Given the description of an element on the screen output the (x, y) to click on. 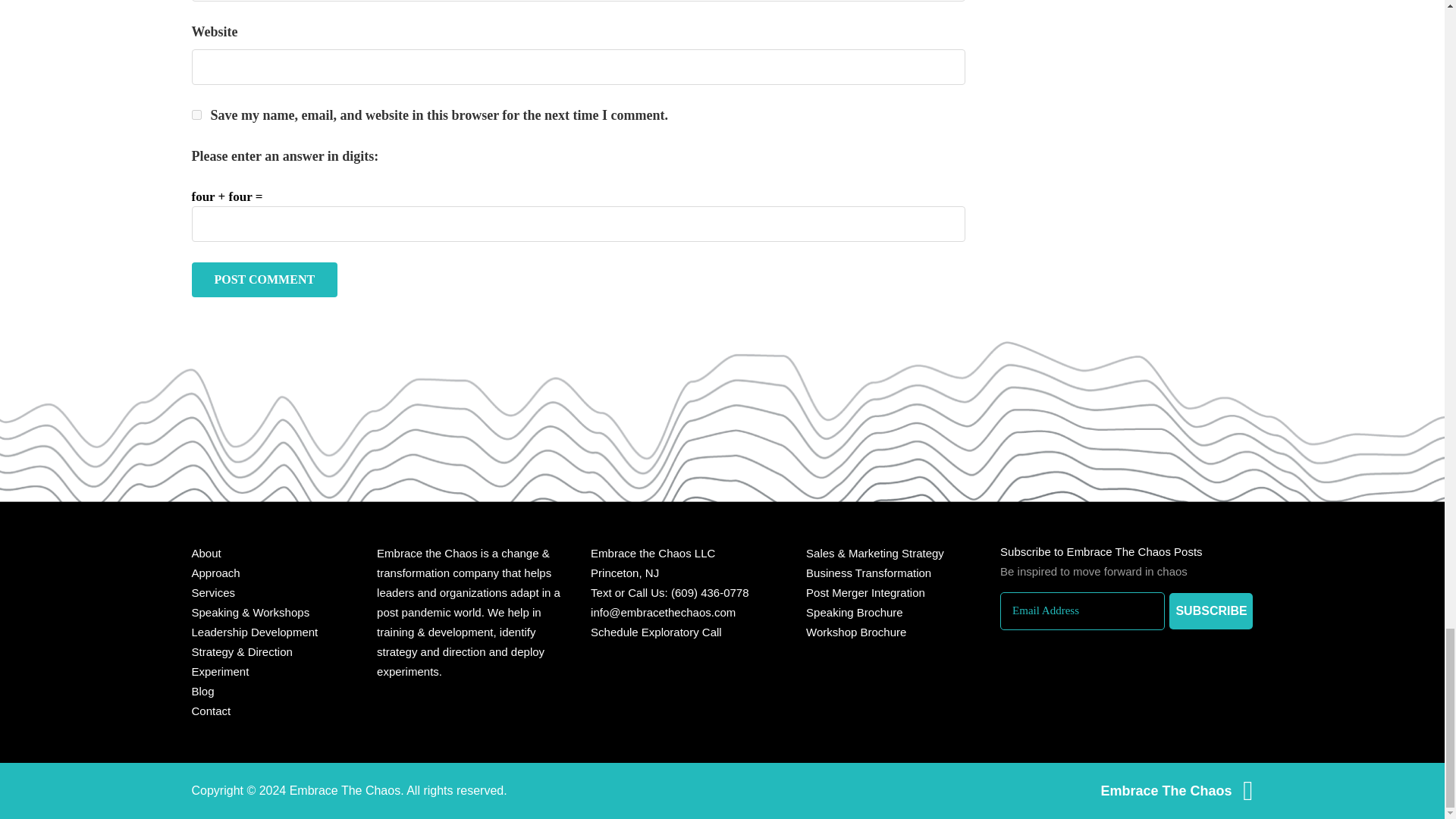
About (205, 553)
Post Comment (263, 279)
yes (195, 114)
Subscribe (1210, 610)
Post Comment (263, 279)
